Given the description of an element on the screen output the (x, y) to click on. 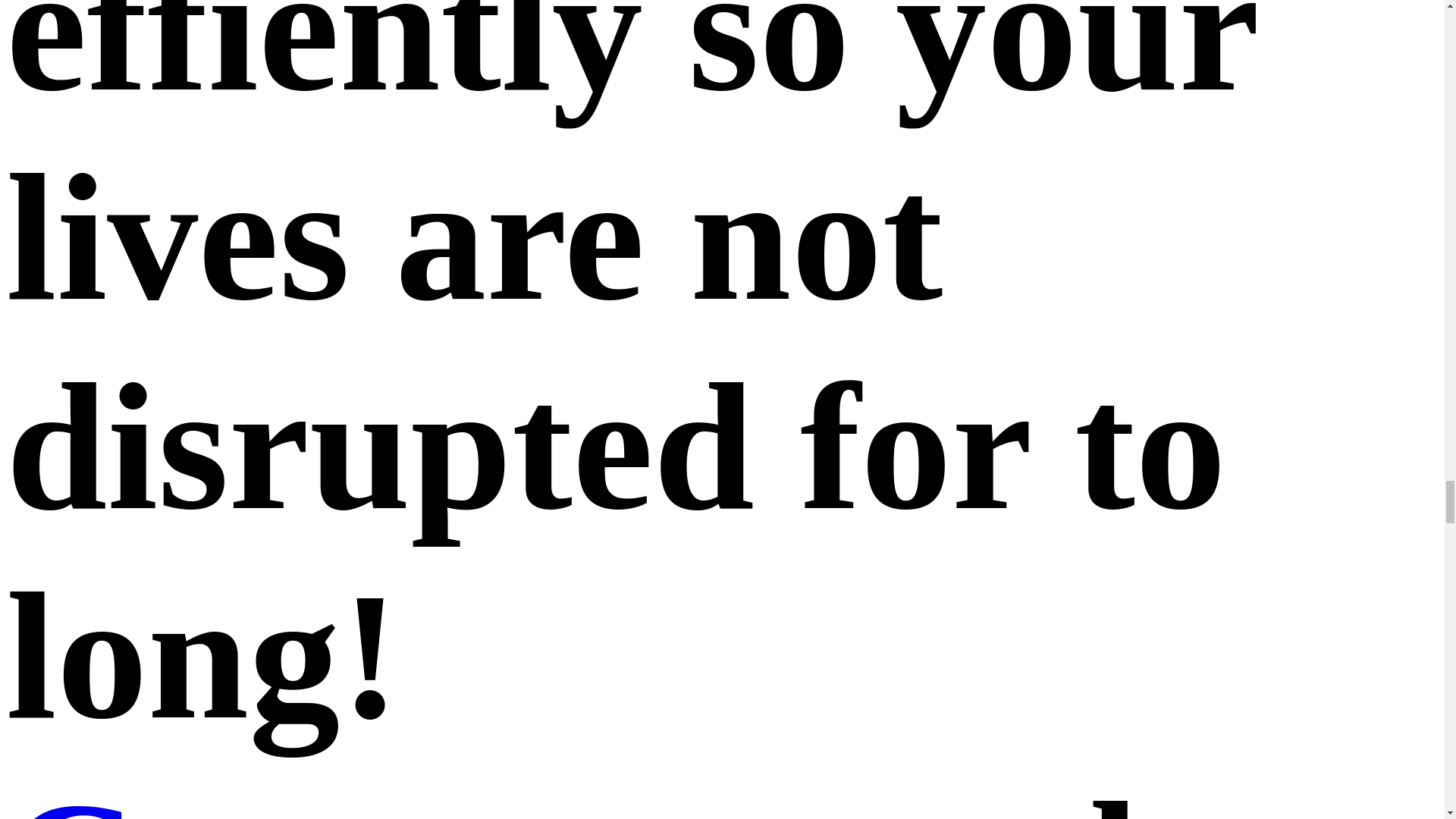
Contact us  (445, 791)
